Given the description of an element on the screen output the (x, y) to click on. 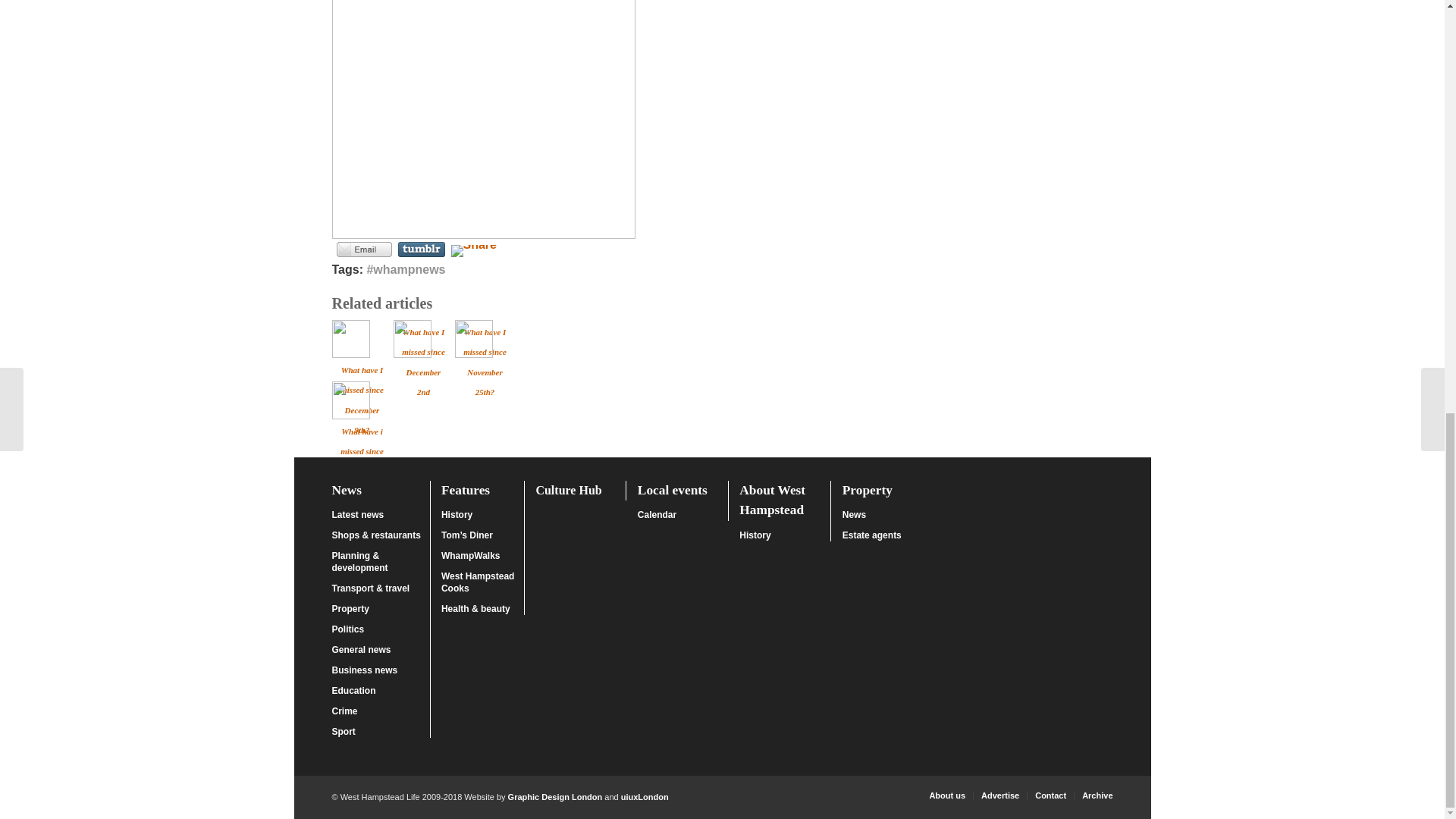
Share via email (363, 249)
Share on Tumblr (420, 249)
